Given the description of an element on the screen output the (x, y) to click on. 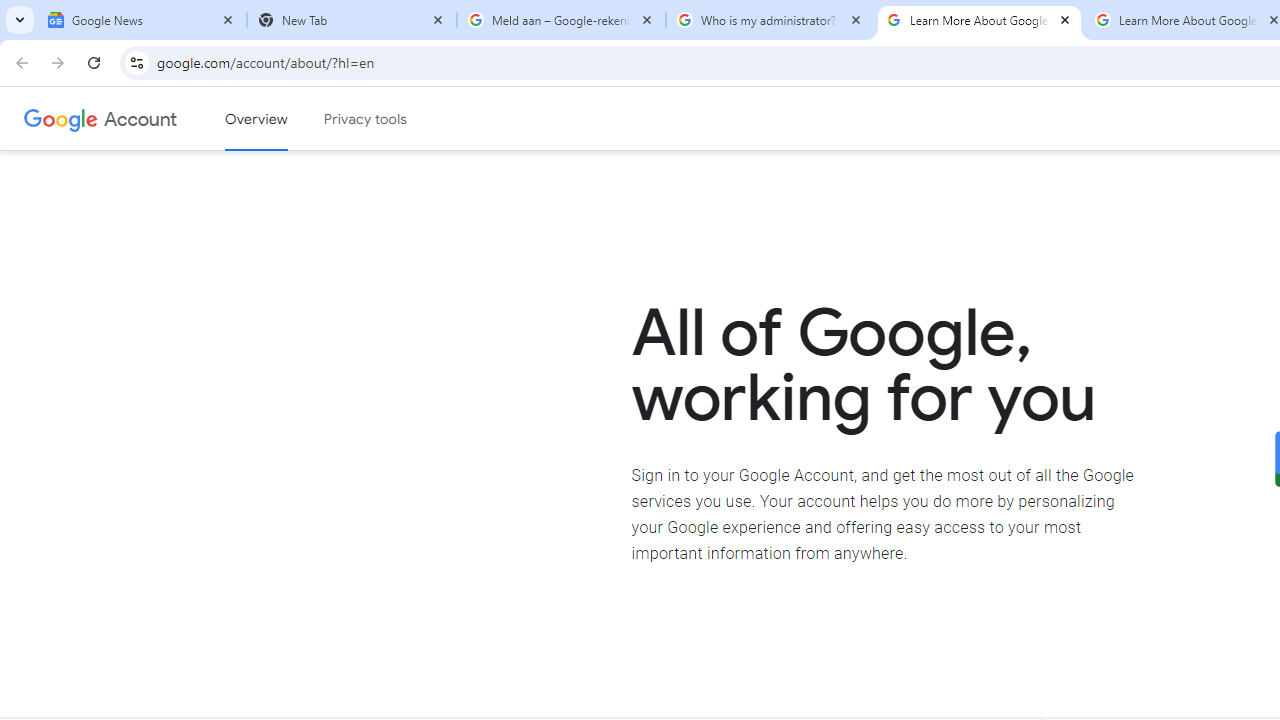
Skip to Content (285, 115)
Google Account (140, 118)
Privacy tools (365, 119)
Google Account overview (256, 119)
Google News (142, 20)
New Tab (351, 20)
Who is my administrator? - Google Account Help (770, 20)
